Given the description of an element on the screen output the (x, y) to click on. 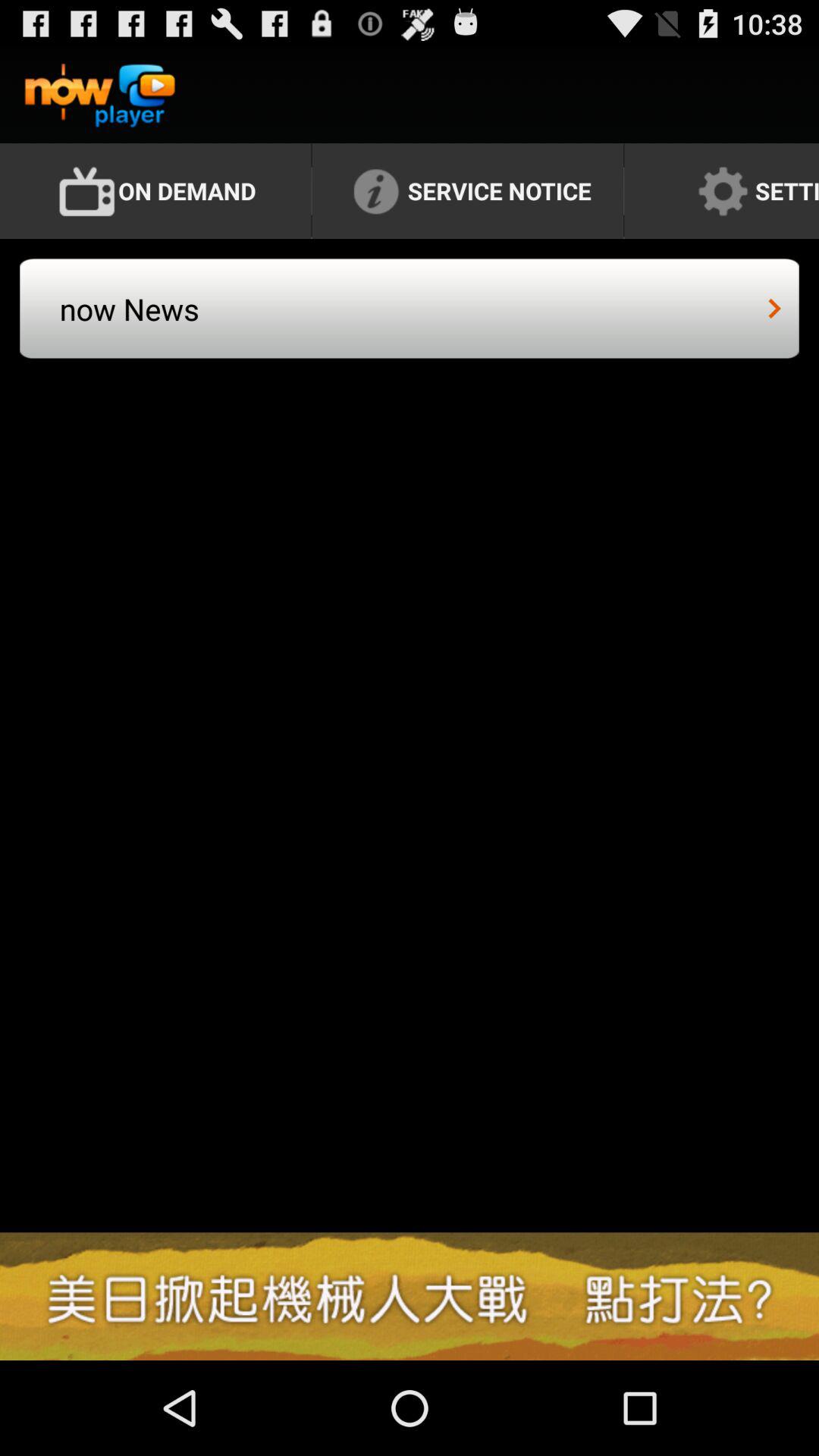
open icon next to the now news icon (774, 308)
